Given the description of an element on the screen output the (x, y) to click on. 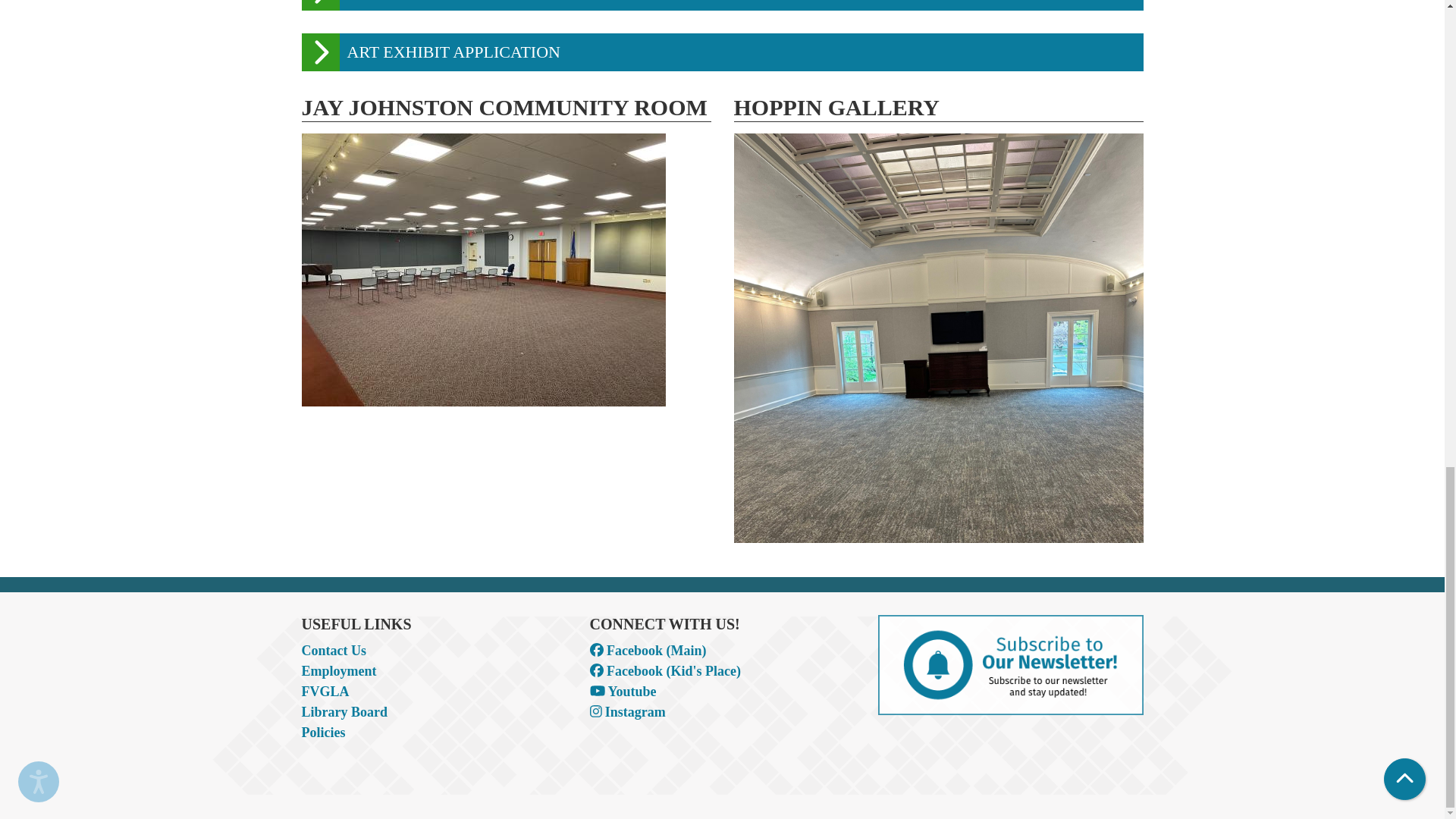
Community Room from Kitchen (506, 269)
Newsletter button (1009, 664)
Community Room from Kitchen (483, 269)
